Given the description of an element on the screen output the (x, y) to click on. 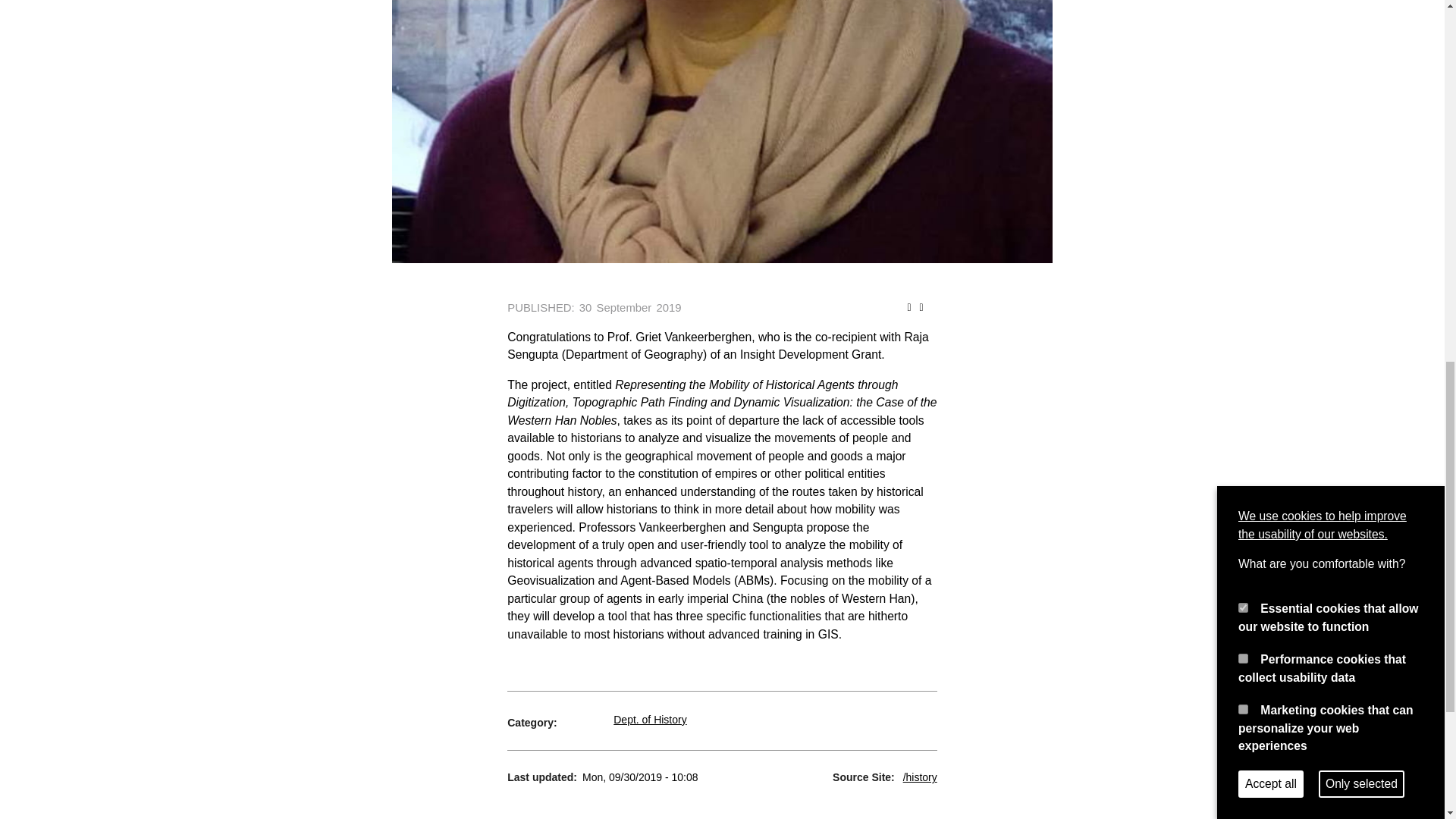
Dept. of History (648, 719)
